Given the description of an element on the screen output the (x, y) to click on. 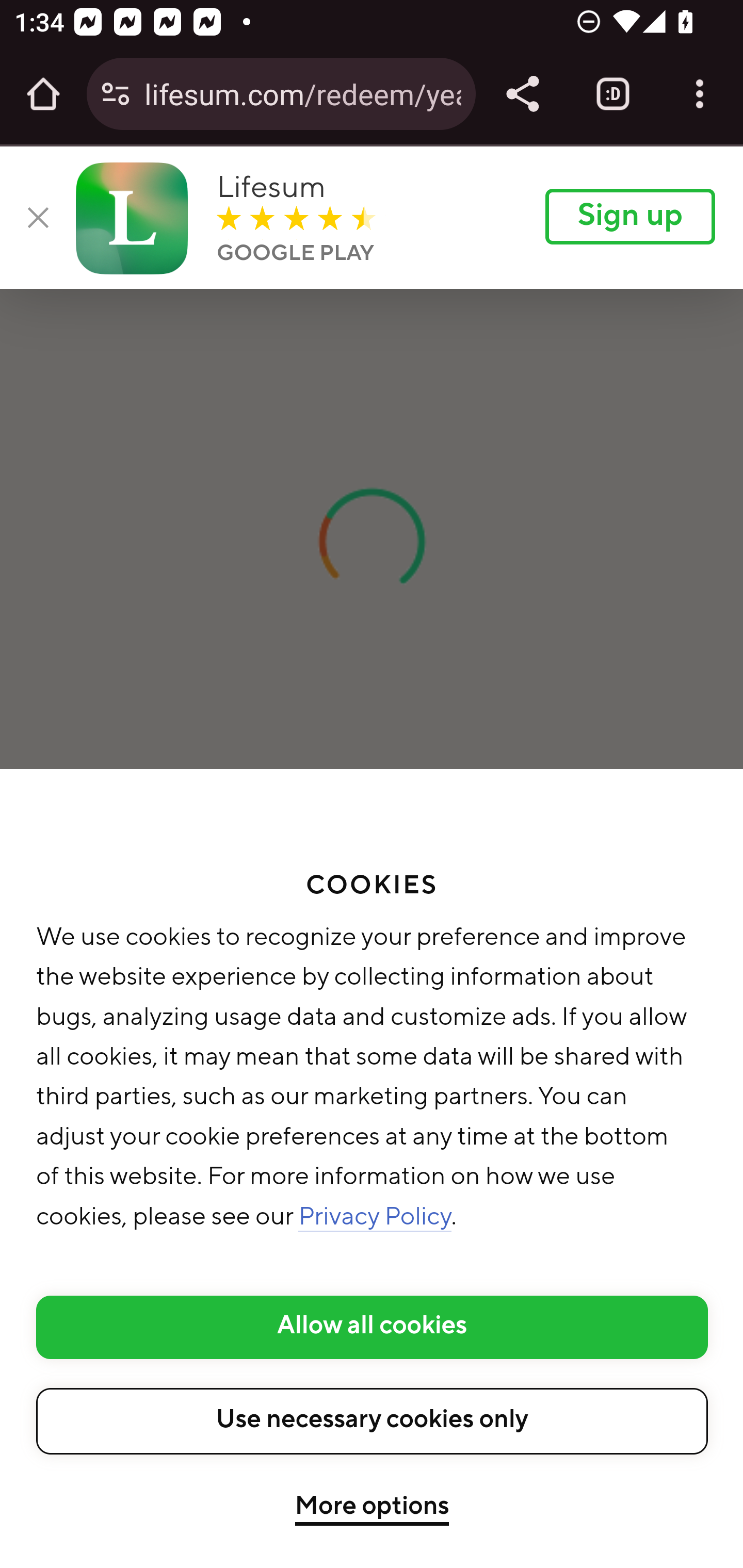
Open the home page (43, 93)
Connection is secure (115, 93)
Share (522, 93)
Switch or close tabs (612, 93)
Customize and control Google Chrome (699, 93)
Privacy Policy (375, 1218)
Allow all cookies (372, 1326)
Use necessary cookies only (372, 1420)
More options (371, 1509)
